Given the description of an element on the screen output the (x, y) to click on. 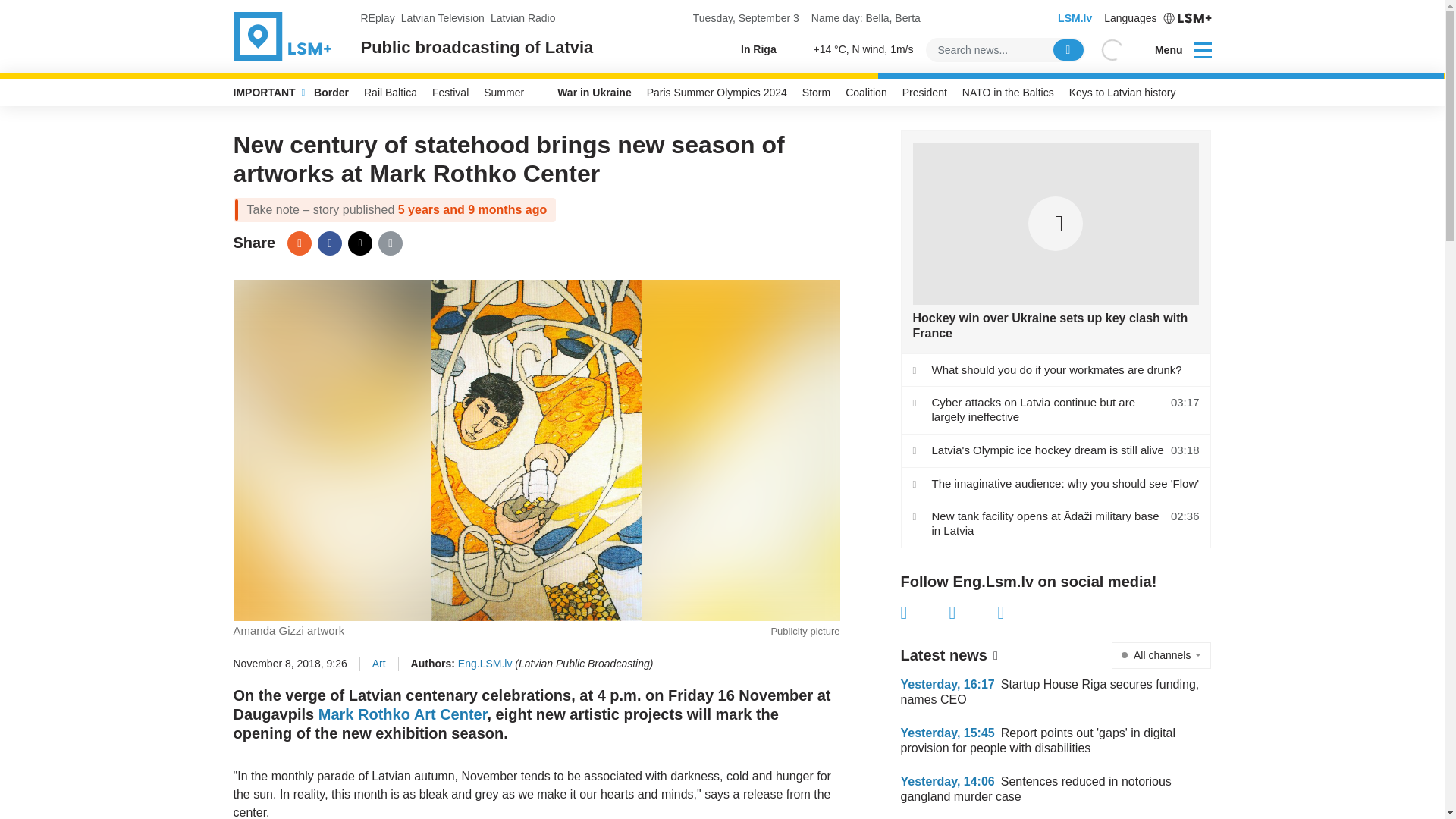
Draugiem (298, 242)
War in Ukraine (585, 92)
Coalition (865, 92)
Facebook (329, 242)
Facebook (925, 612)
Festival (450, 92)
President (925, 92)
Latvian Television (442, 18)
Border (330, 92)
Name day: Bella, Berta (865, 18)
